Given the description of an element on the screen output the (x, y) to click on. 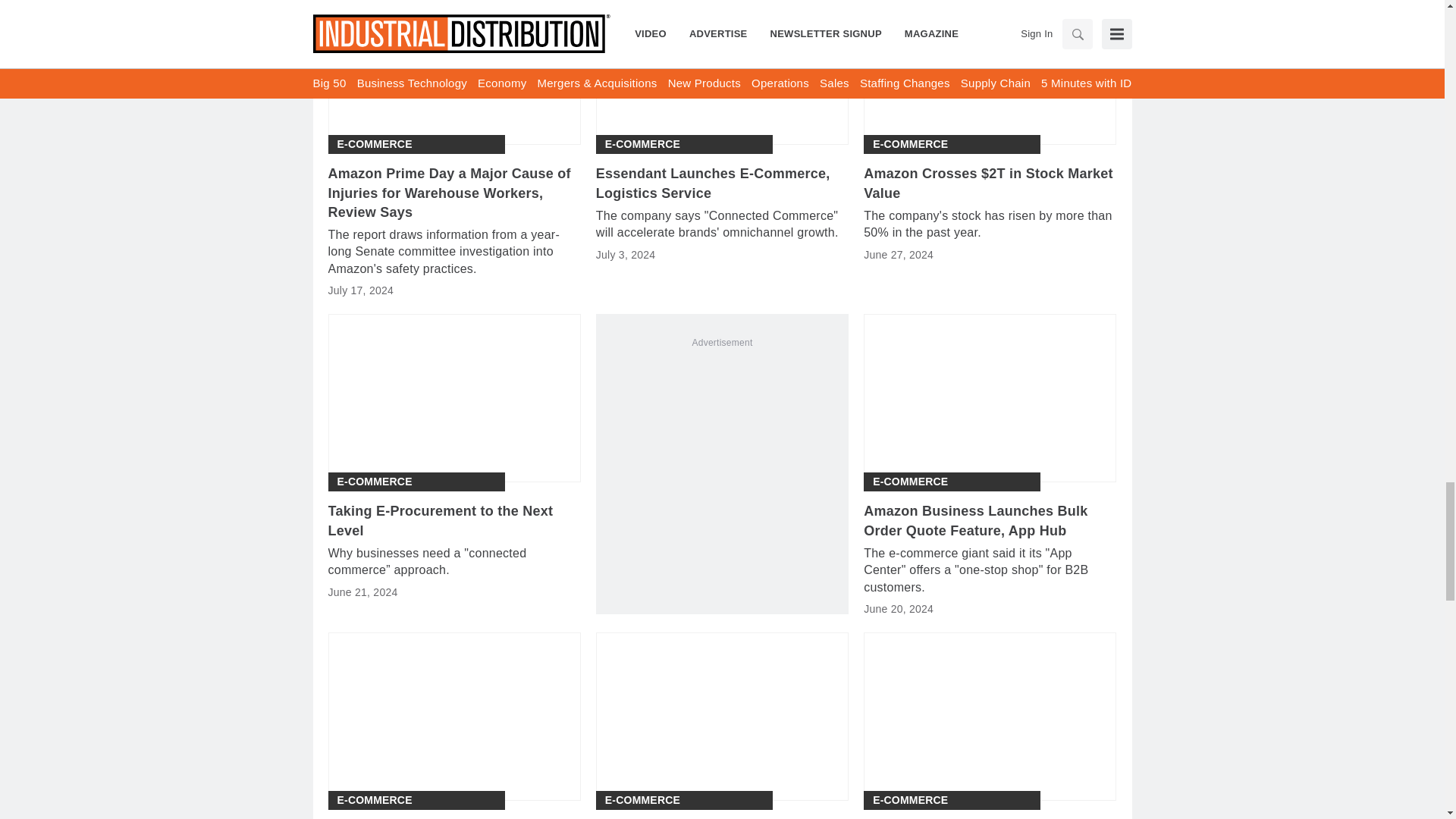
E-Commerce (374, 144)
E-Commerce (642, 144)
